Given the description of an element on the screen output the (x, y) to click on. 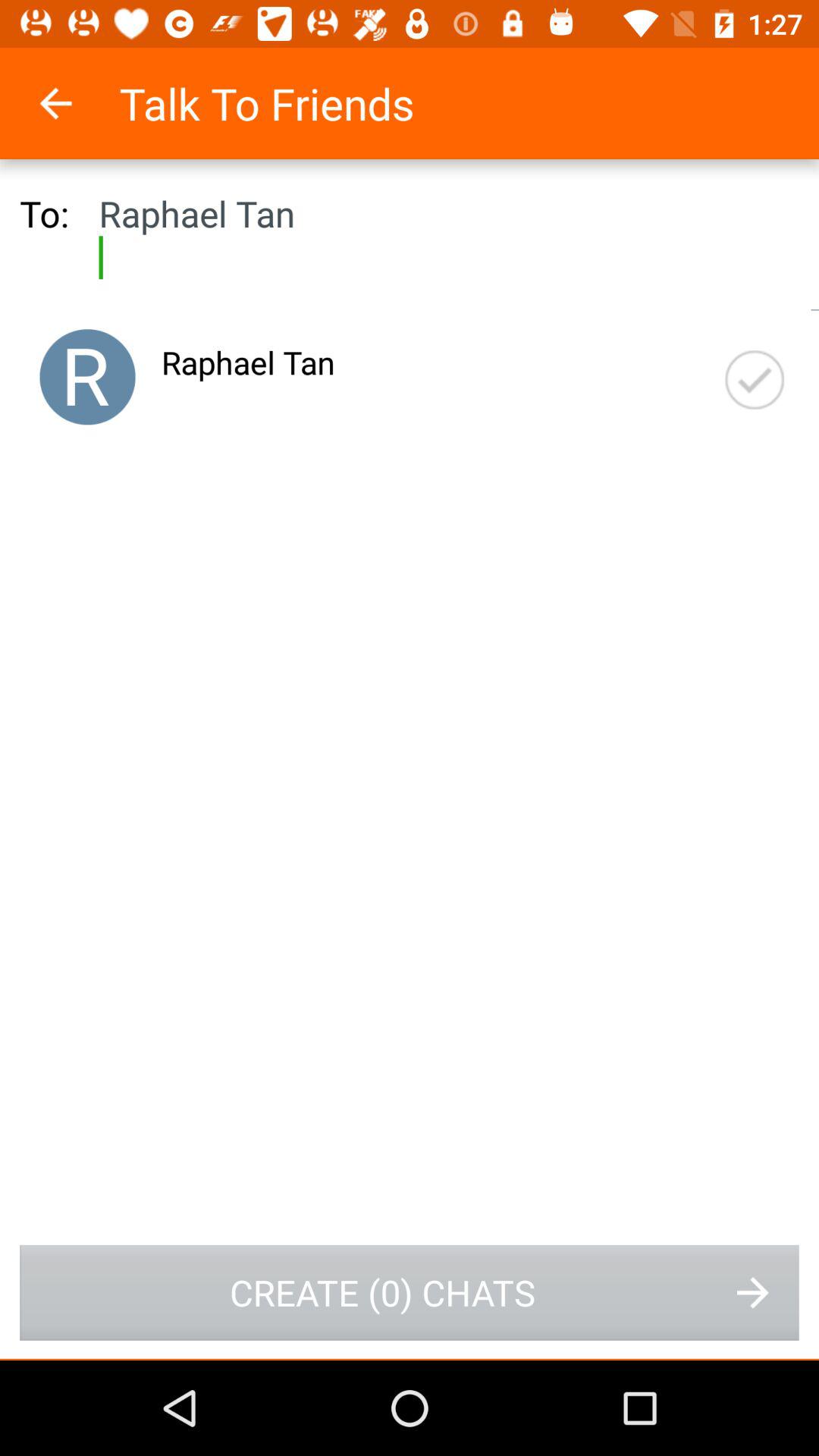
flip until create (0) chats item (409, 1292)
